Given the description of an element on the screen output the (x, y) to click on. 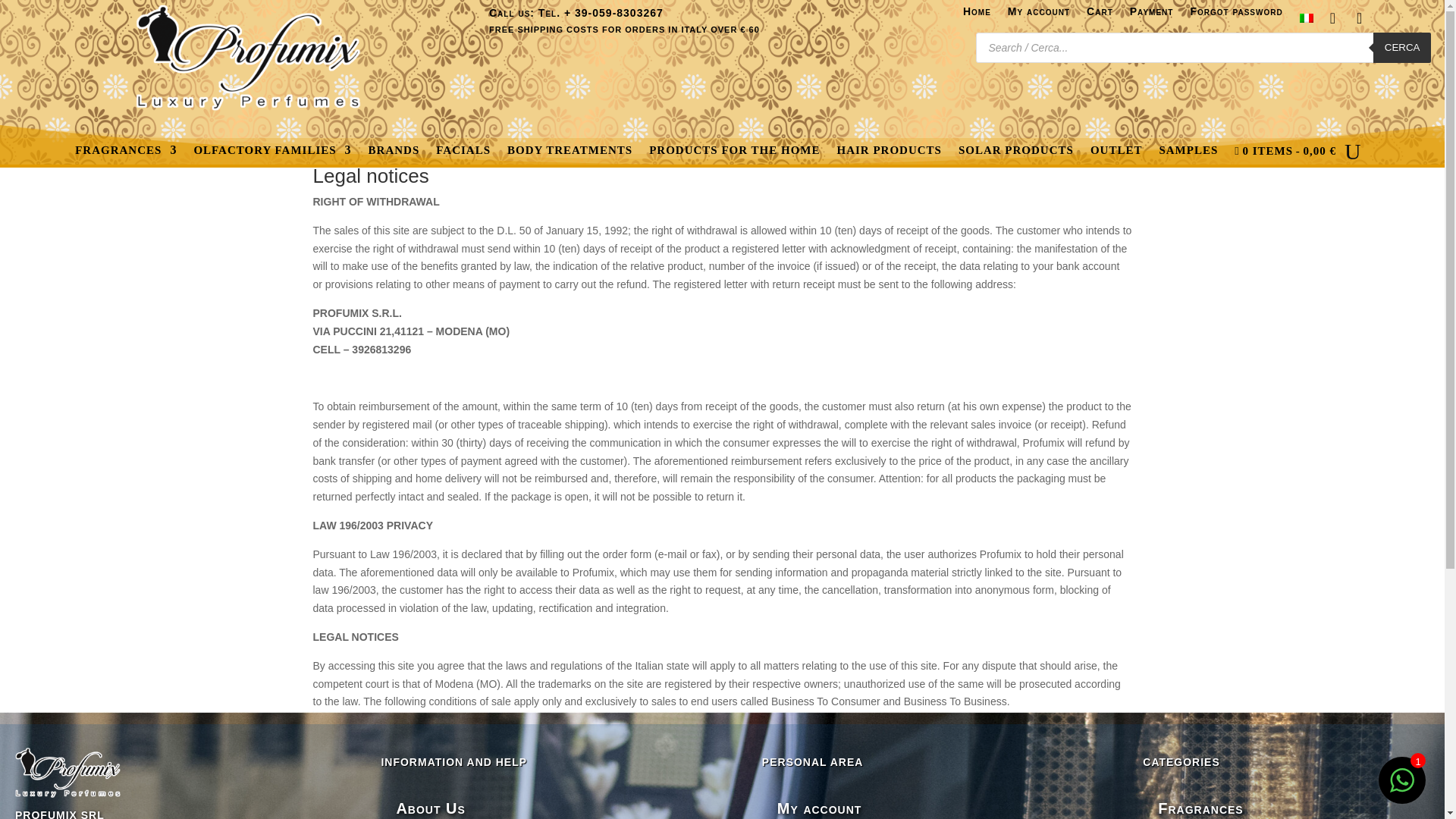
Cart (1099, 20)
Start shopping (1285, 154)
My account (1038, 20)
FRAGRANCES (125, 154)
Forgot password (1235, 20)
Profumix Luxury Perfumes (67, 771)
Home (976, 20)
CERCA (1402, 47)
logo-profumixluxury-ev (248, 57)
Payment (1151, 20)
OLFACTORY FAMILIES (271, 154)
